Given the description of an element on the screen output the (x, y) to click on. 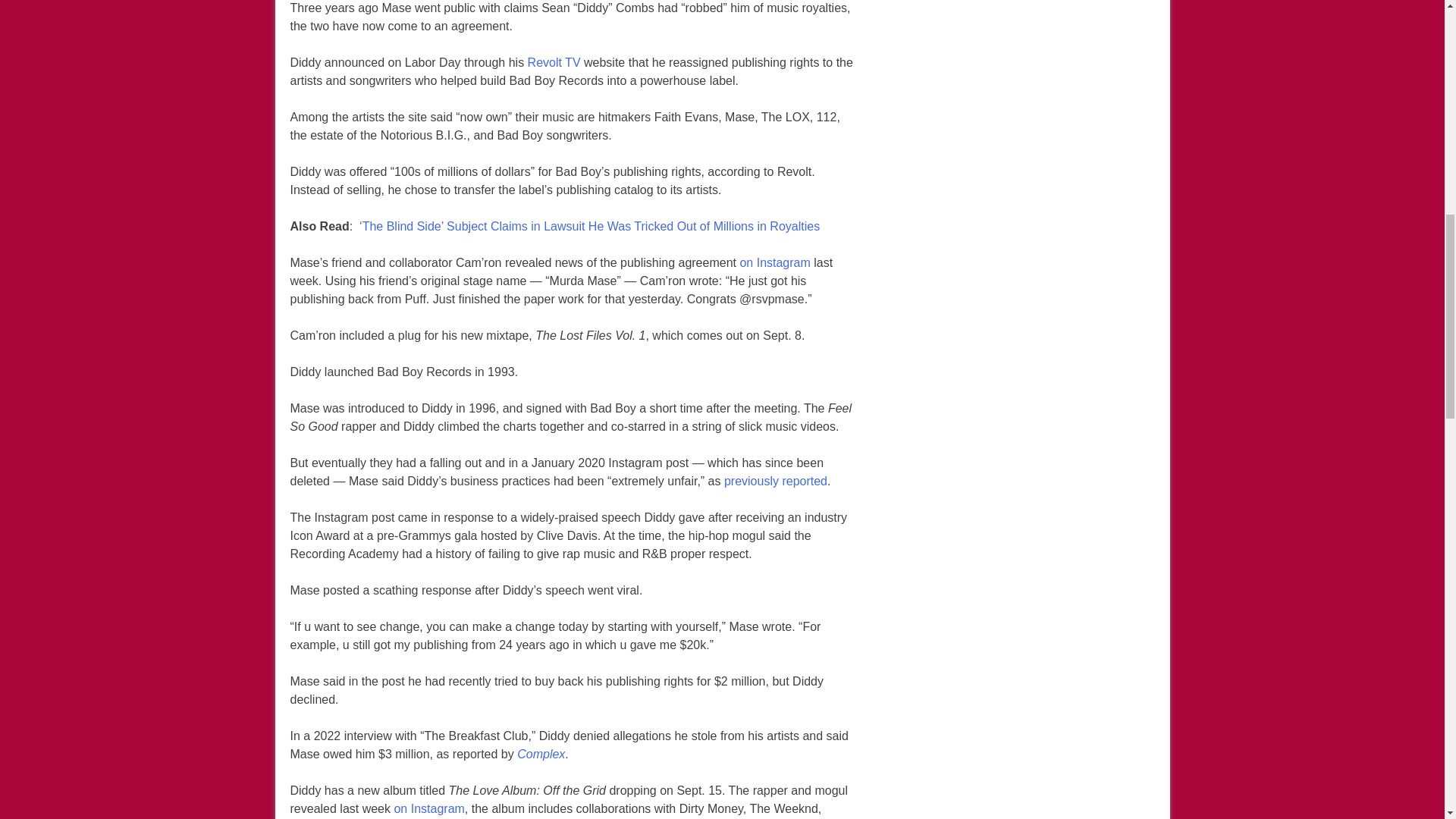
Complex (540, 754)
on Instagram (428, 809)
Revolt TV (553, 63)
previously reported (775, 481)
on Instagram (774, 262)
